Given the description of an element on the screen output the (x, y) to click on. 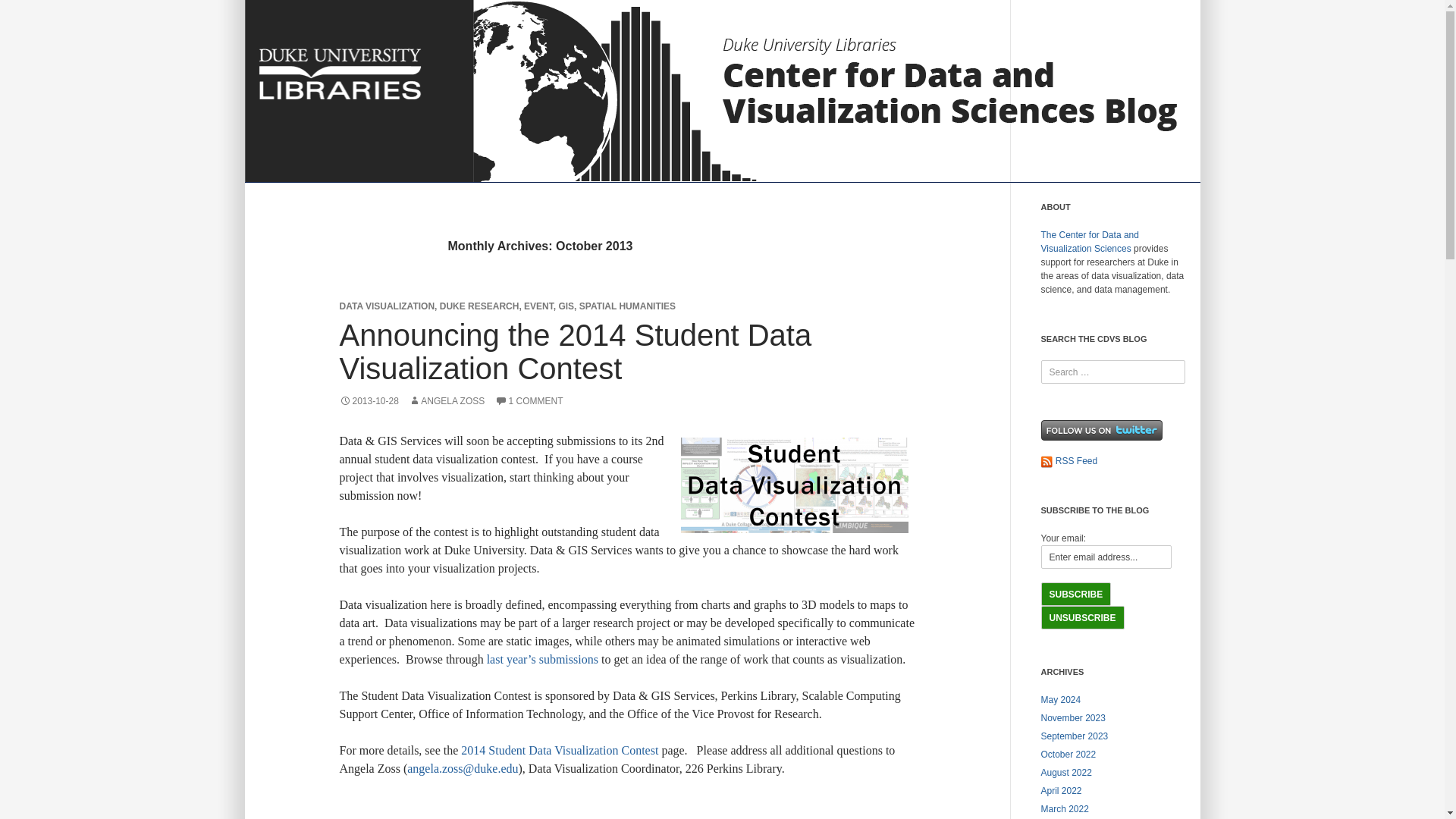
October 2022 (1068, 754)
The Center for Data and Visualization Sciences (1089, 241)
September 2023 (1074, 736)
Search (27, 11)
Enter email address... (1105, 556)
DATA VISUALIZATION (387, 306)
SPATIAL HUMANITIES (627, 306)
RSS Feed (1069, 460)
March 2022 (1064, 808)
2014 Student Data Visualization Contest (559, 749)
November 2023 (1073, 717)
Duke University Libraries (338, 74)
Subscribe (1075, 594)
August 2022 (1065, 772)
Unsubscribe (1082, 617)
